Given the description of an element on the screen output the (x, y) to click on. 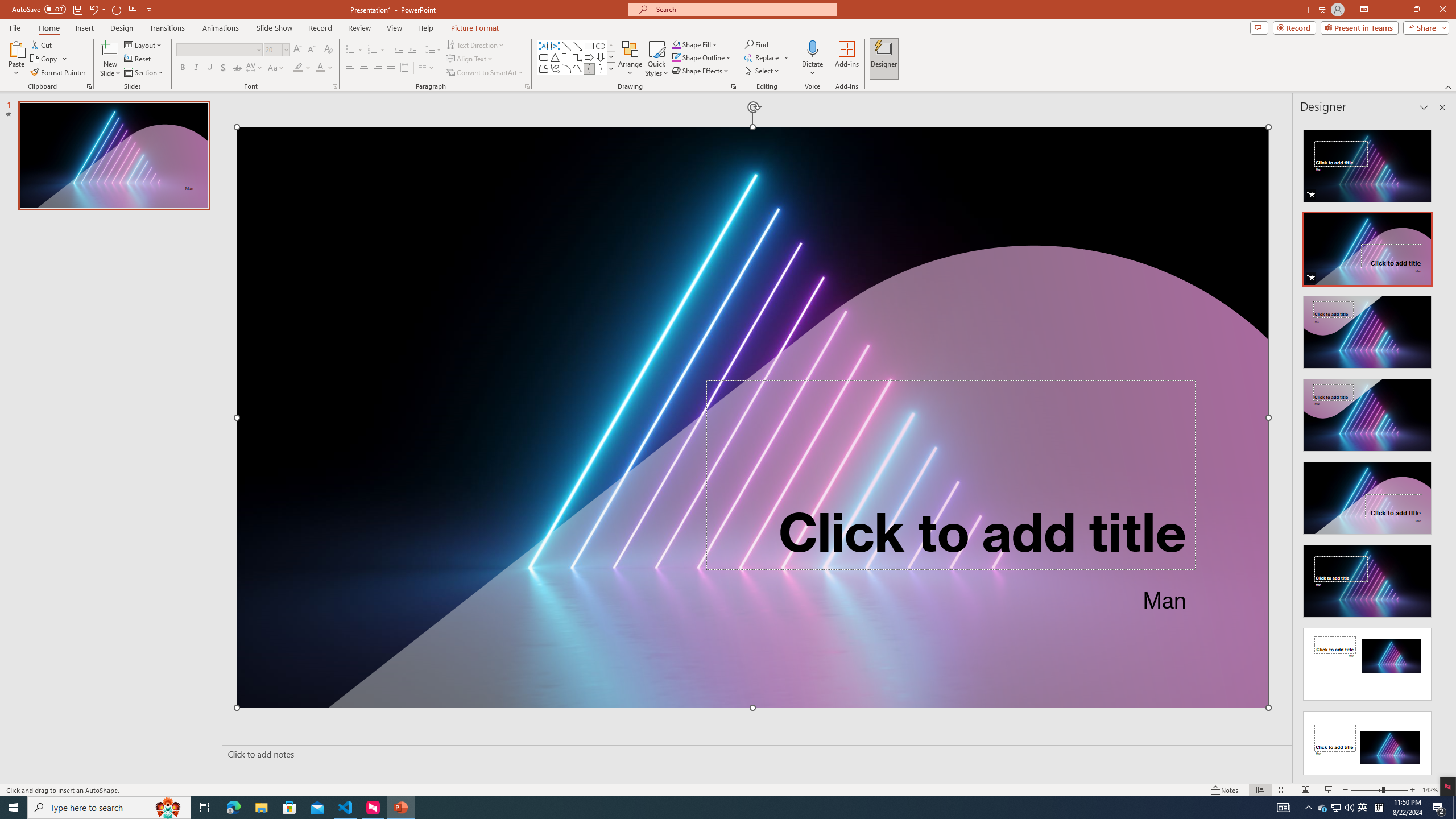
Design Idea with Animation (1366, 245)
